Given the description of an element on the screen output the (x, y) to click on. 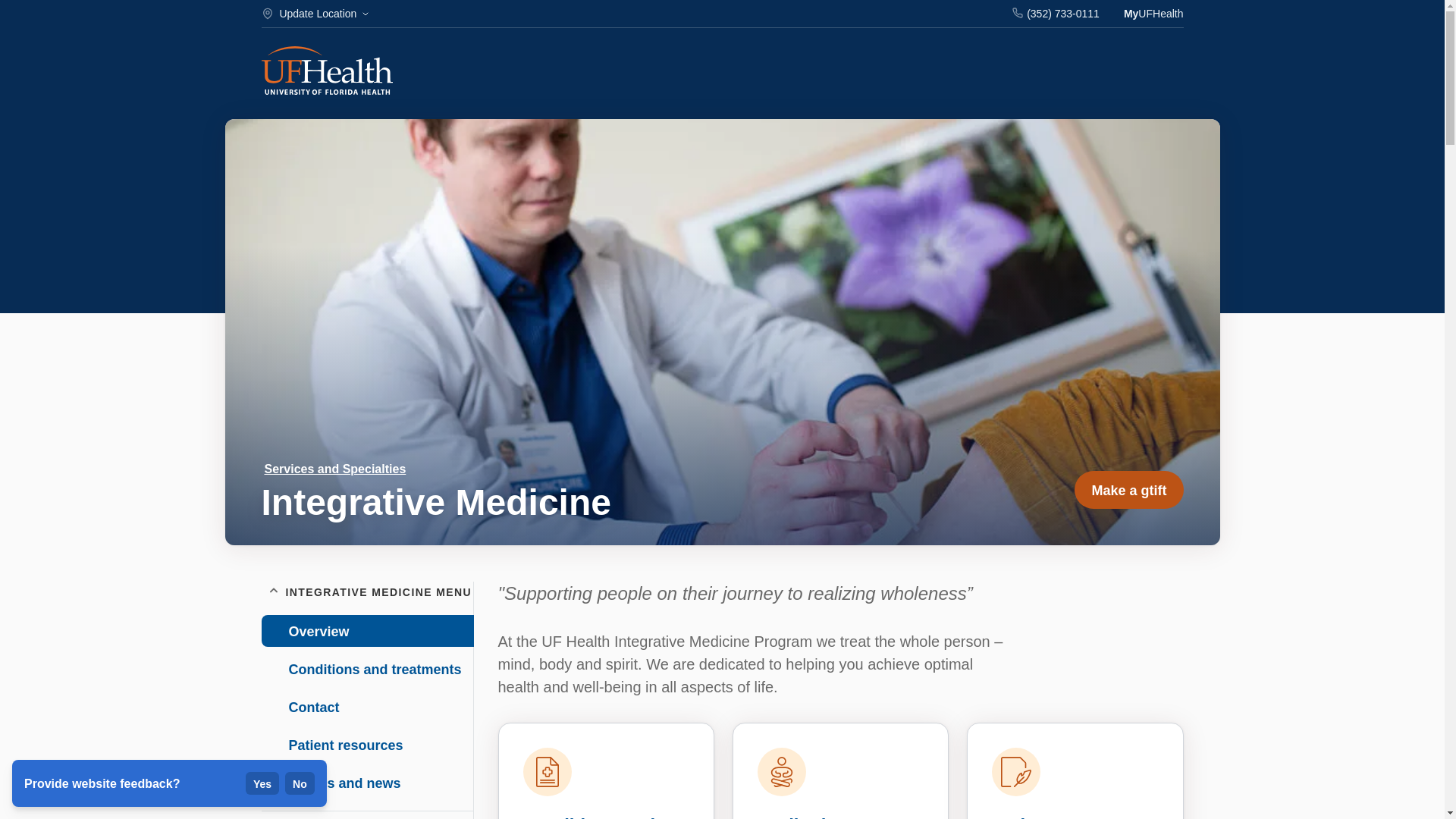
Conditions and treatments (365, 668)
MyUFHealth (1153, 13)
Meditation exercises (802, 816)
Collapse Integrative Medicine Menu (272, 591)
Patient resources (1067, 816)
UF Health Home (325, 72)
Contact (365, 706)
Patient resources (365, 744)
Overview (366, 631)
Make a gtift (1128, 489)
Conditions and treatments (589, 816)
Services and Specialties (334, 468)
Stories and news (365, 782)
